Given the description of an element on the screen output the (x, y) to click on. 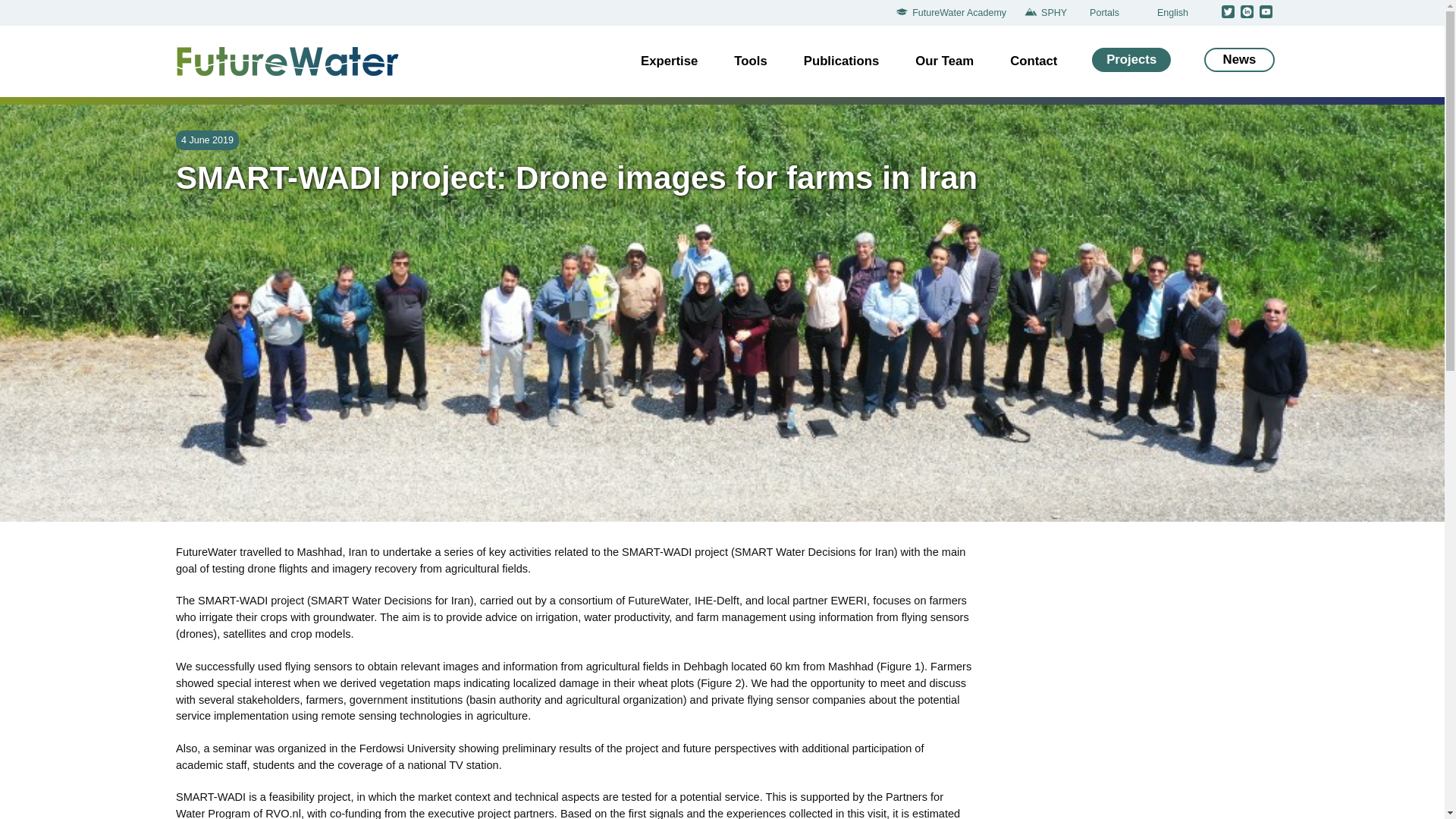
Visit the SPHY website (1049, 13)
Visit the FutureWater Academy website (954, 13)
